Given the description of an element on the screen output the (x, y) to click on. 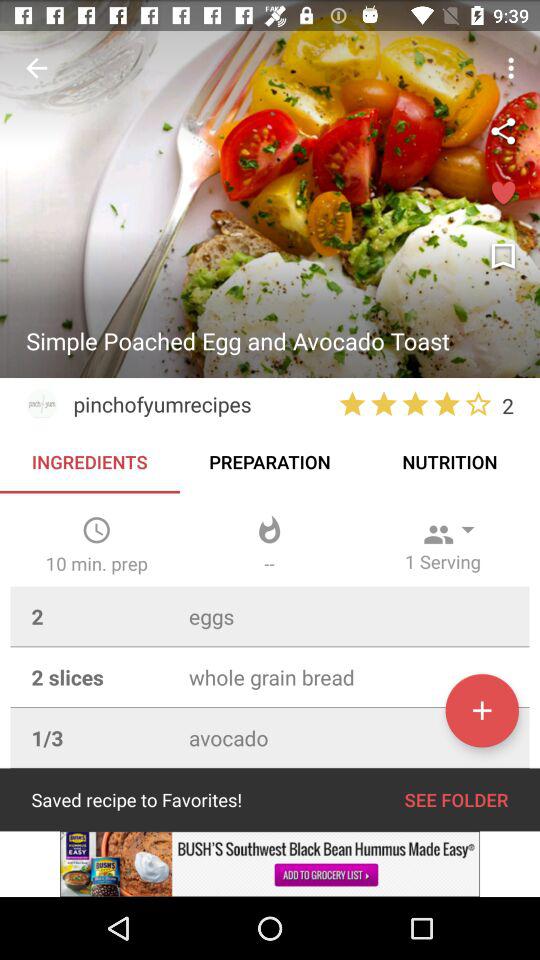
favorite box (503, 194)
